Given the description of an element on the screen output the (x, y) to click on. 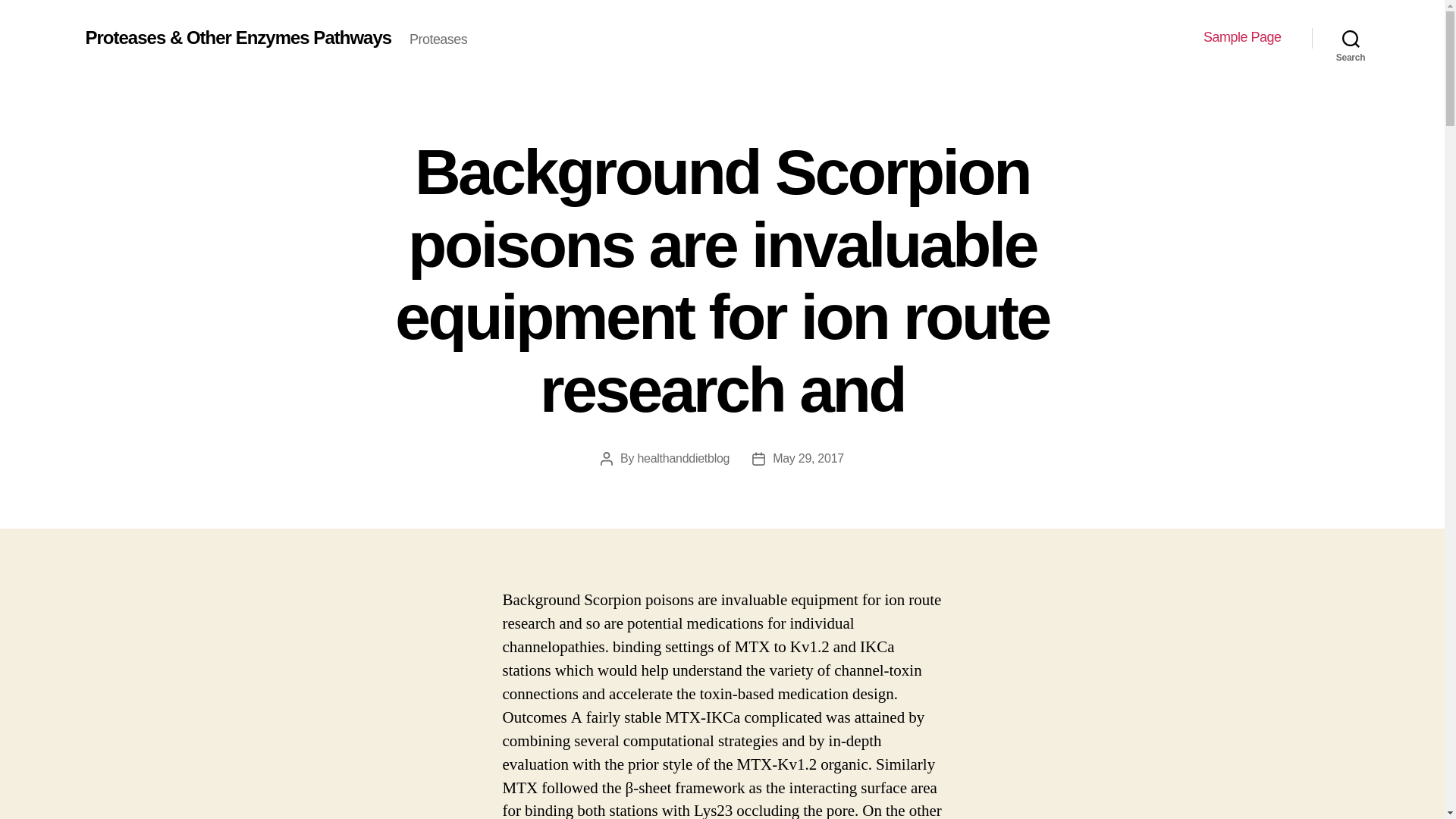
Search (1350, 37)
May 29, 2017 (808, 458)
healthanddietblog (683, 458)
Sample Page (1242, 37)
